Given the description of an element on the screen output the (x, y) to click on. 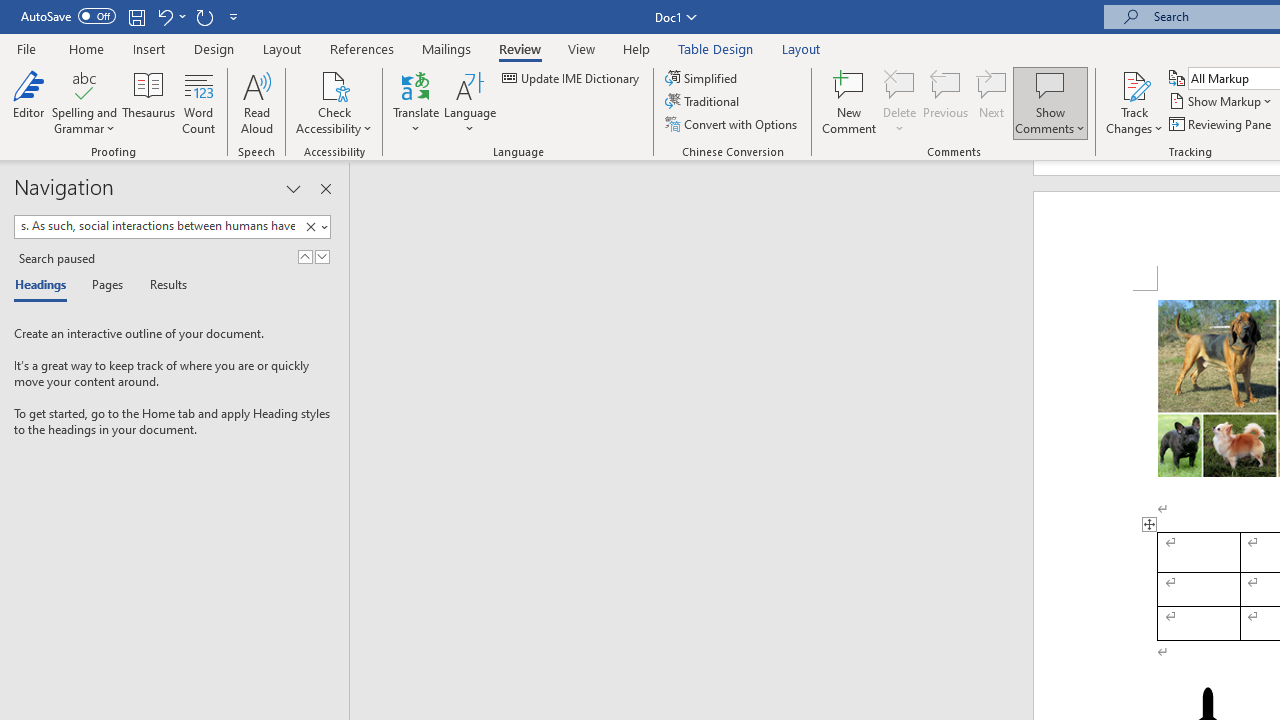
Simplified (702, 78)
Show Comments (1050, 102)
Next Result (322, 256)
Previous (946, 102)
Read Aloud (256, 102)
New Comment (849, 102)
Show Markup (1222, 101)
Language (470, 102)
Reviewing Pane (1221, 124)
Spelling and Grammar (84, 102)
